Given the description of an element on the screen output the (x, y) to click on. 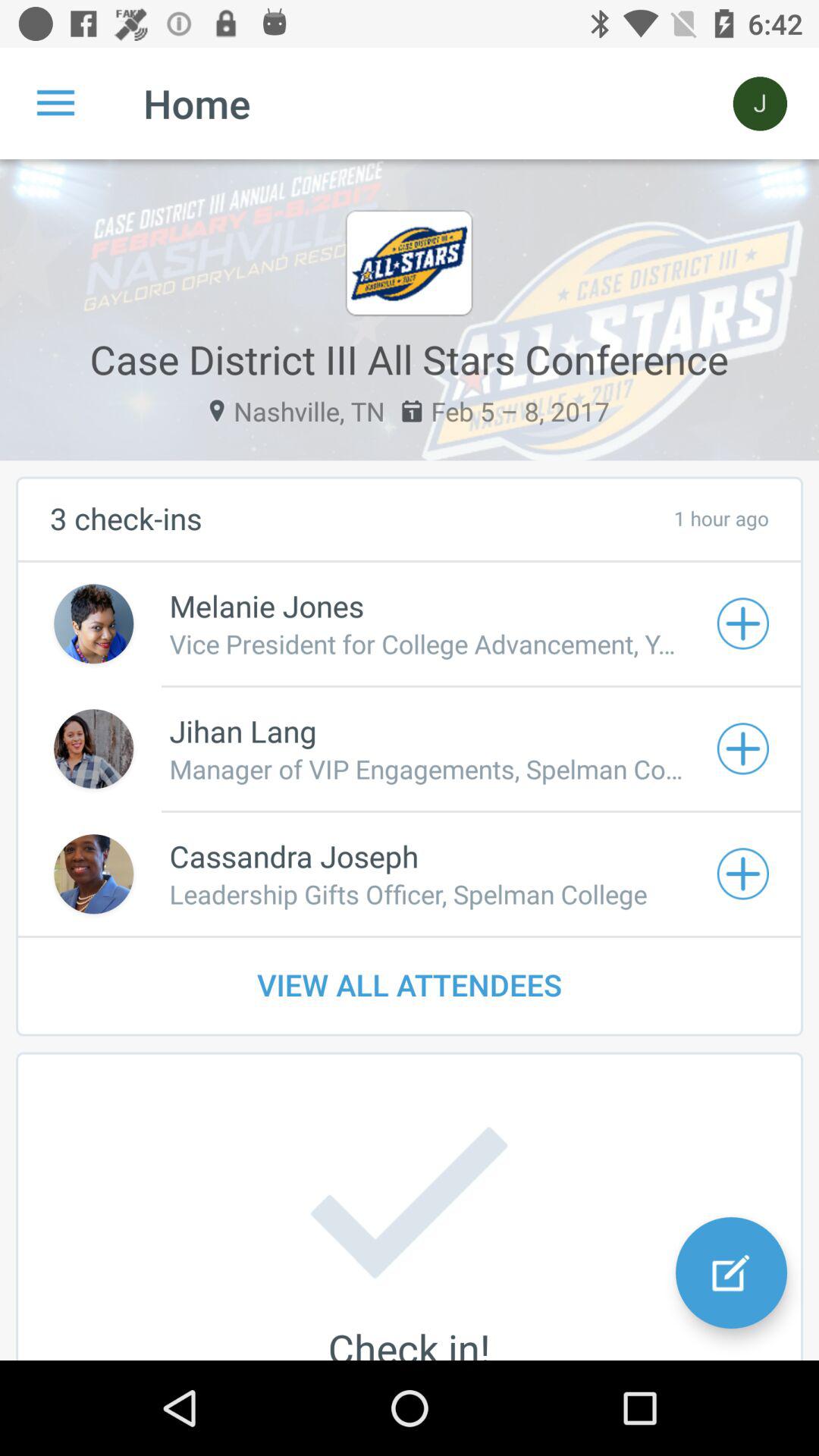
launch the icon next to the home item (760, 103)
